Given the description of an element on the screen output the (x, y) to click on. 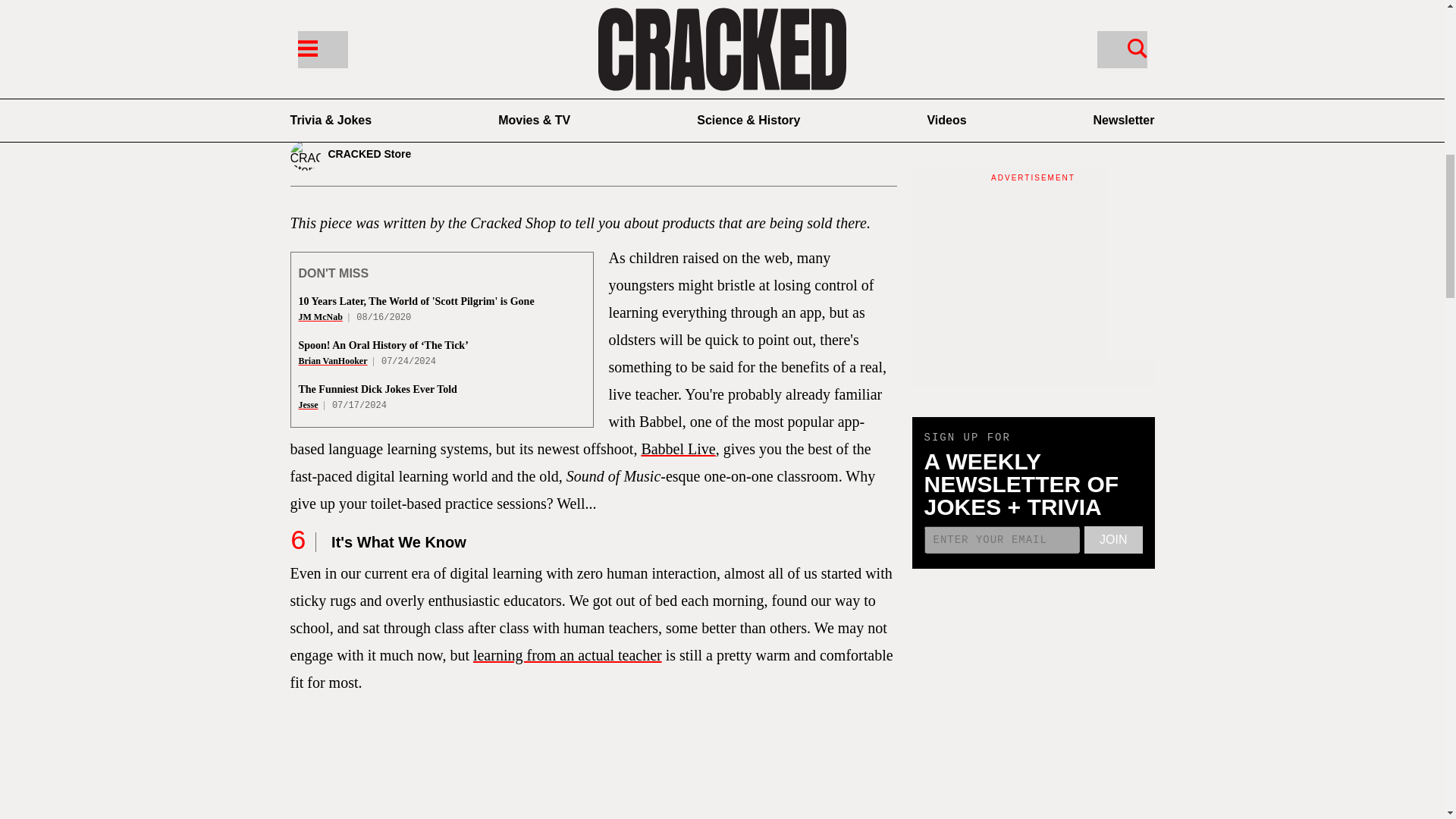
CRACKED Store (387, 155)
The Funniest Dick Jokes Ever Told (377, 389)
JM McNab (320, 317)
Jesse (308, 404)
Brian VanHooker (333, 360)
10 Years Later, The World of 'Scott Pilgrim' is Gone (416, 301)
